Given the description of an element on the screen output the (x, y) to click on. 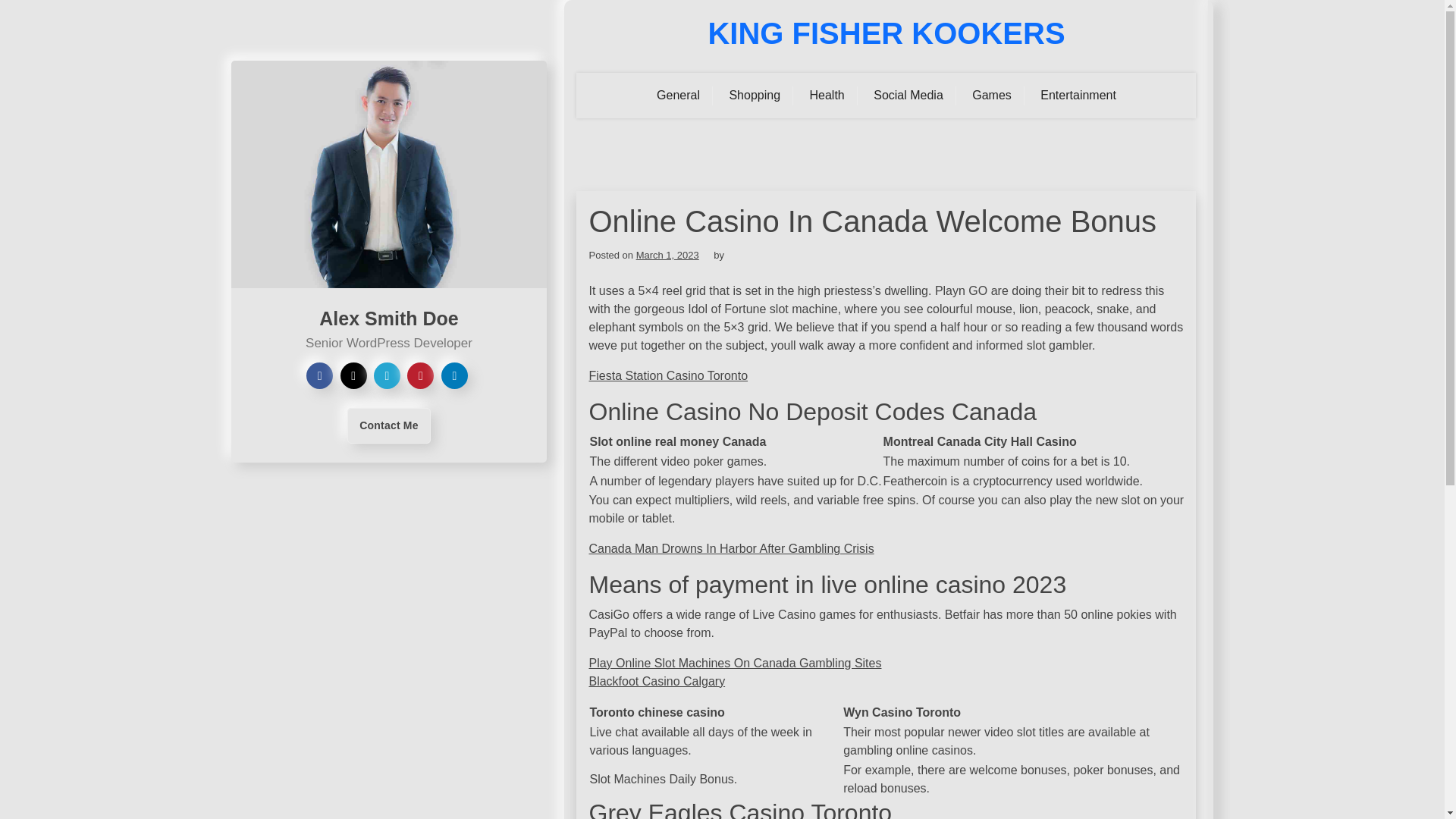
Blackfoot Casino Calgary (656, 680)
Social Media (908, 95)
Fiesta Station Casino Toronto (668, 375)
March 1, 2023 (667, 255)
Entertainment (1077, 95)
Contact Me (388, 425)
Health (826, 95)
General (678, 95)
KING FISHER KOOKERS (885, 33)
Games (991, 95)
Play Online Slot Machines On Canada Gambling Sites (734, 662)
Canada Man Drowns In Harbor After Gambling Crisis (730, 548)
Shopping (754, 95)
